Given the description of an element on the screen output the (x, y) to click on. 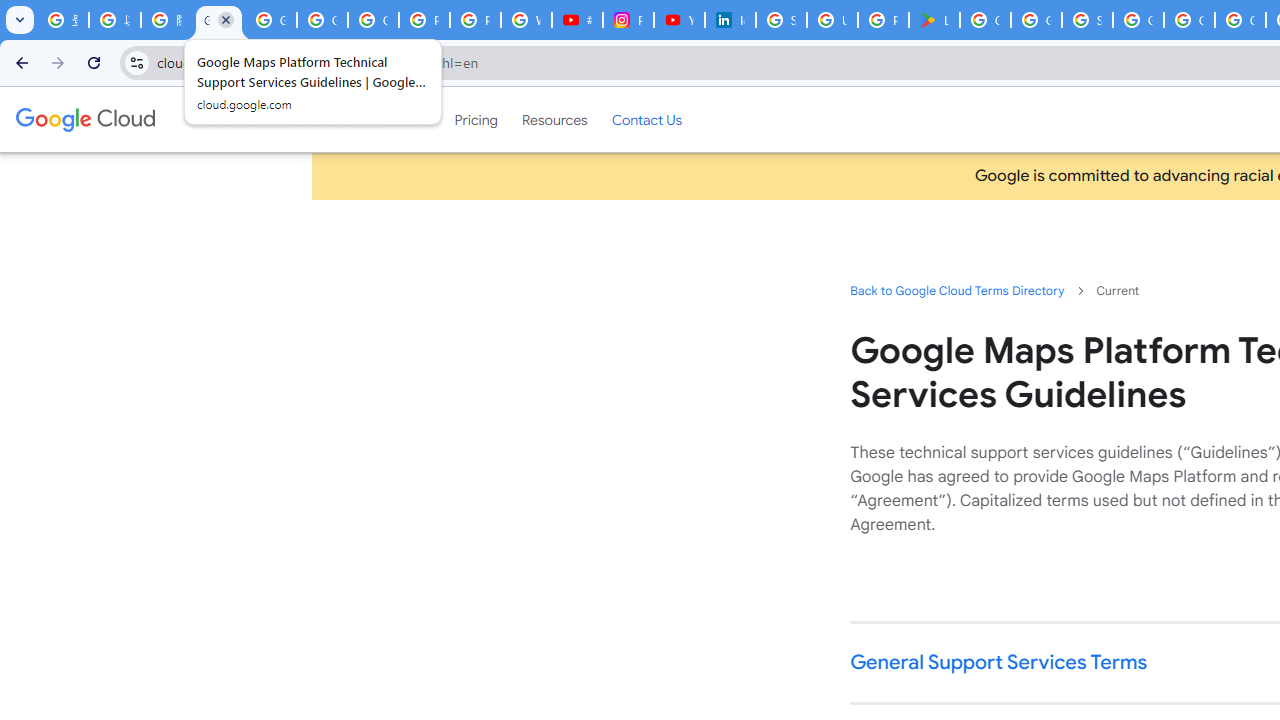
Contact Us (646, 119)
Google Workspace - Specific Terms (1036, 20)
Privacy Help Center - Policies Help (424, 20)
Sign in - Google Accounts (781, 20)
